Given the description of an element on the screen output the (x, y) to click on. 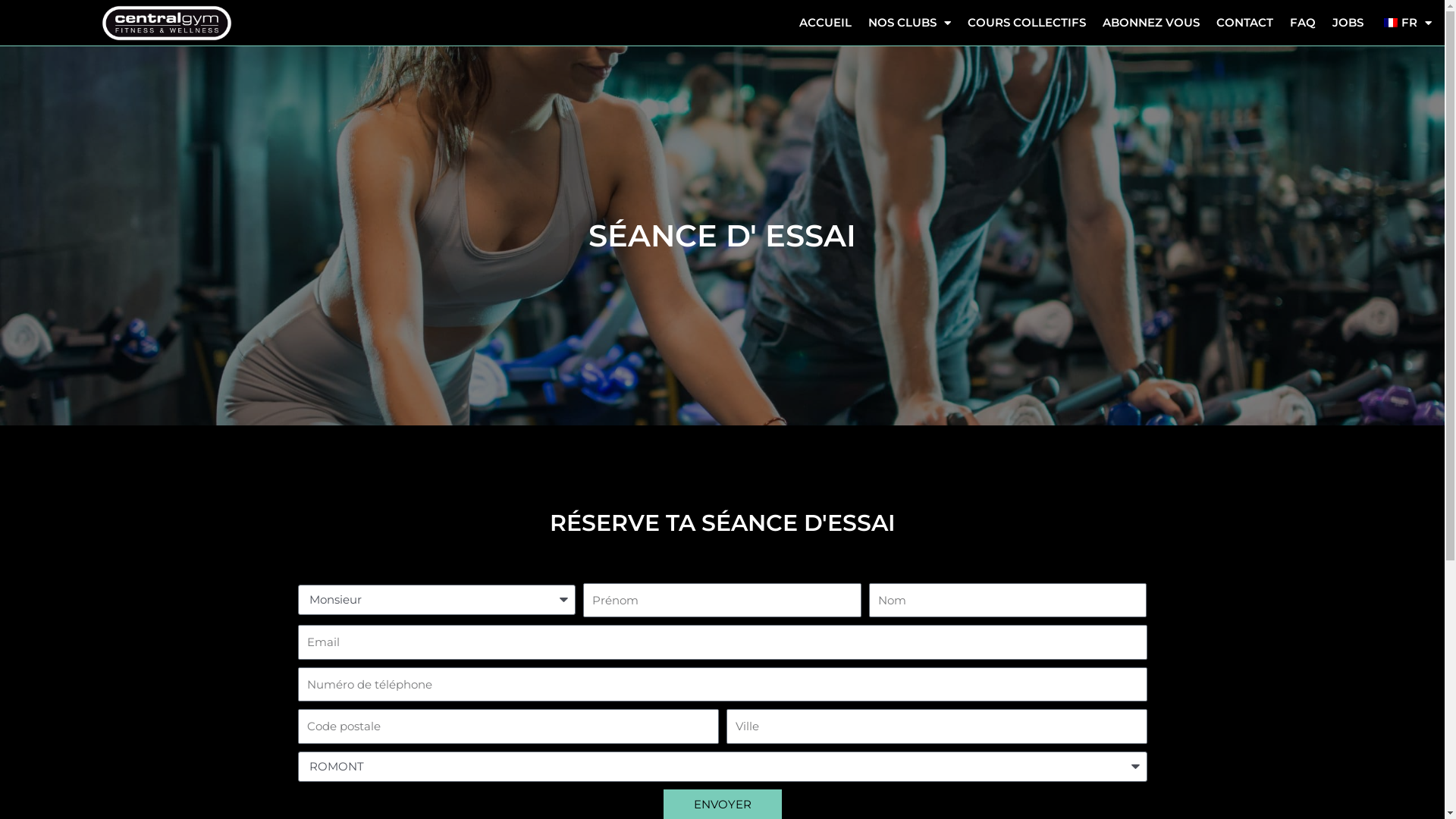
NOS CLUBS Element type: text (909, 22)
JOBS Element type: text (1347, 22)
ACCUEIL Element type: text (824, 22)
FAQ Element type: text (1302, 22)
FR Element type: text (1405, 22)
CONTACT Element type: text (1244, 22)
ABONNEZ VOUS Element type: text (1151, 22)
COURS COLLECTIFS Element type: text (1026, 22)
